Given the description of an element on the screen output the (x, y) to click on. 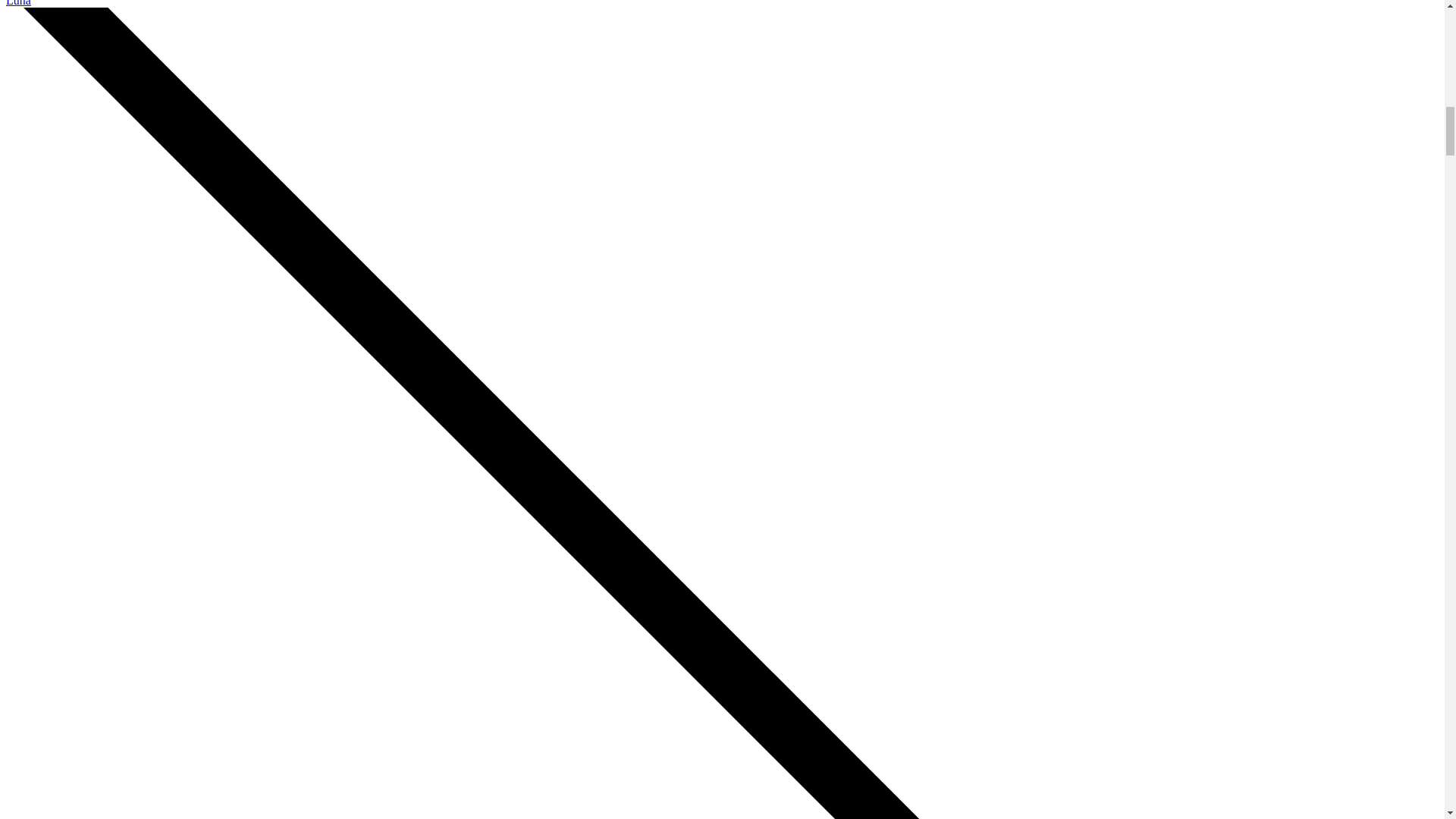
Luna (17, 3)
